Given the description of an element on the screen output the (x, y) to click on. 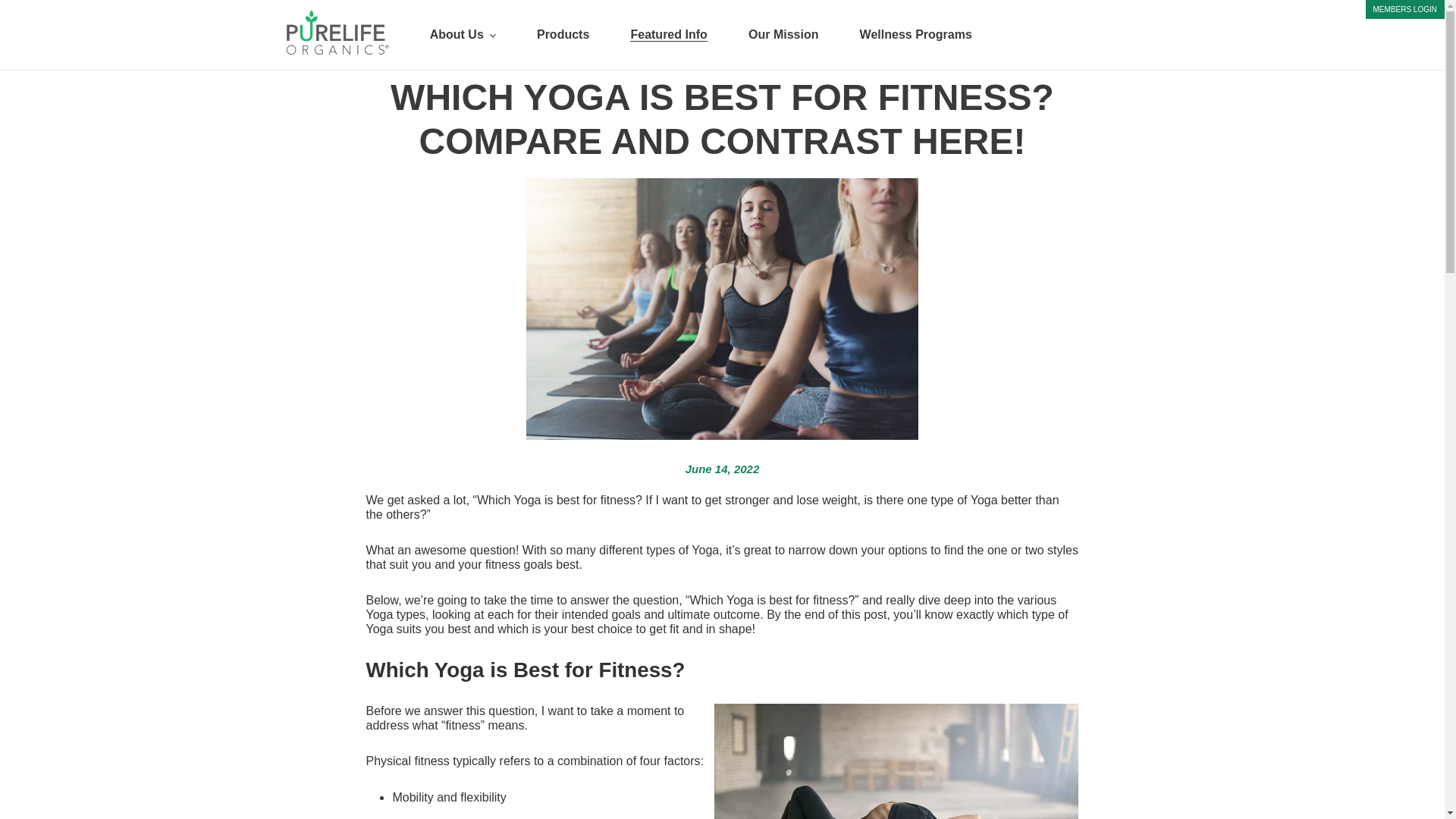
Featured Info (668, 34)
Our Mission (783, 34)
About Us (462, 34)
Products (563, 34)
Wellness Programs (916, 34)
